Given the description of an element on the screen output the (x, y) to click on. 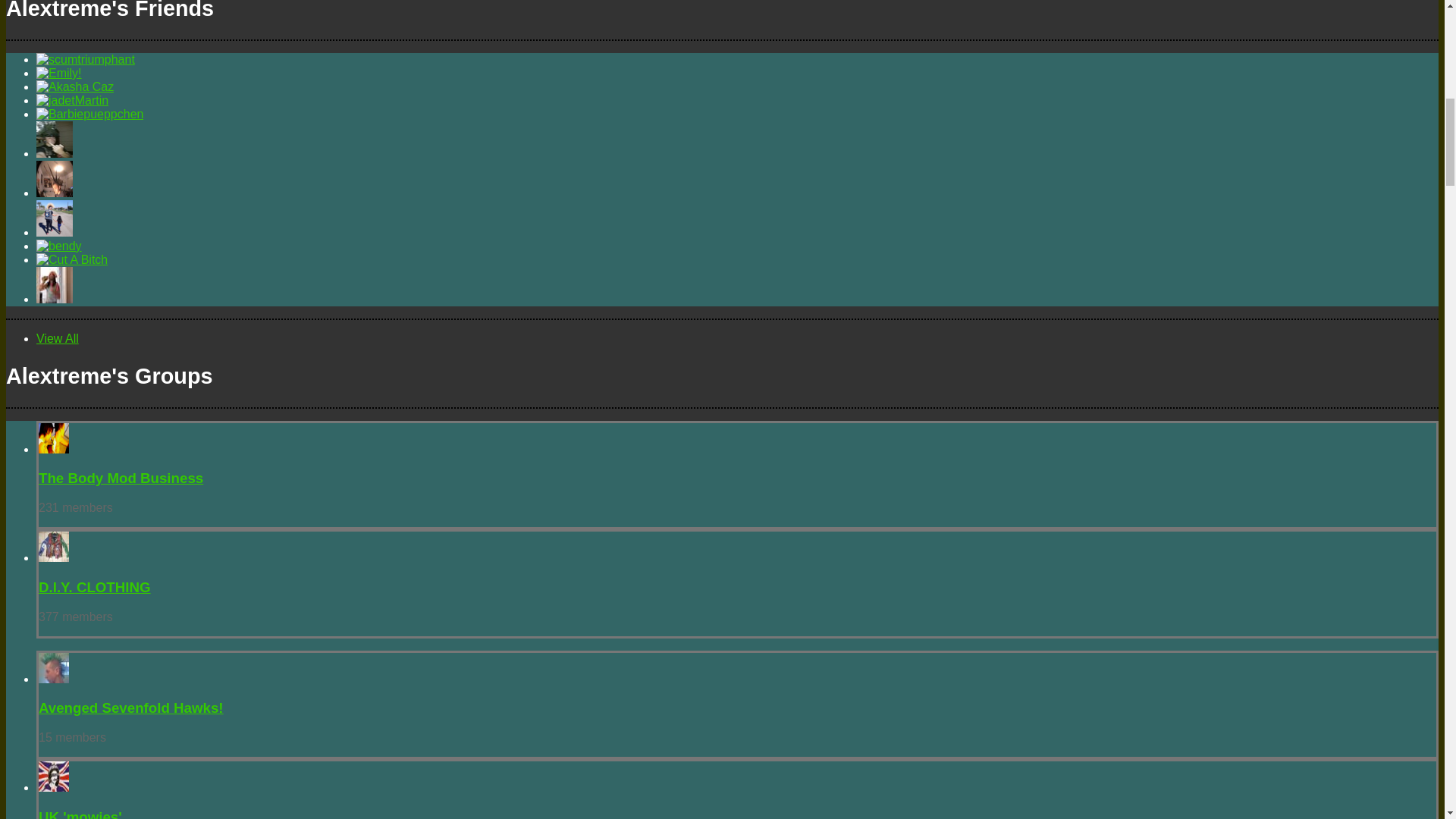
jadetMartin (71, 100)
Akasha Caz (74, 86)
Cut A Bitch (71, 259)
mexicanmanjohn (54, 192)
scumtriumphant (85, 59)
Commie Scum (54, 153)
bendy (58, 245)
Toker (54, 298)
Emily! (58, 72)
Barbiepueppchen (89, 113)
